Given the description of an element on the screen output the (x, y) to click on. 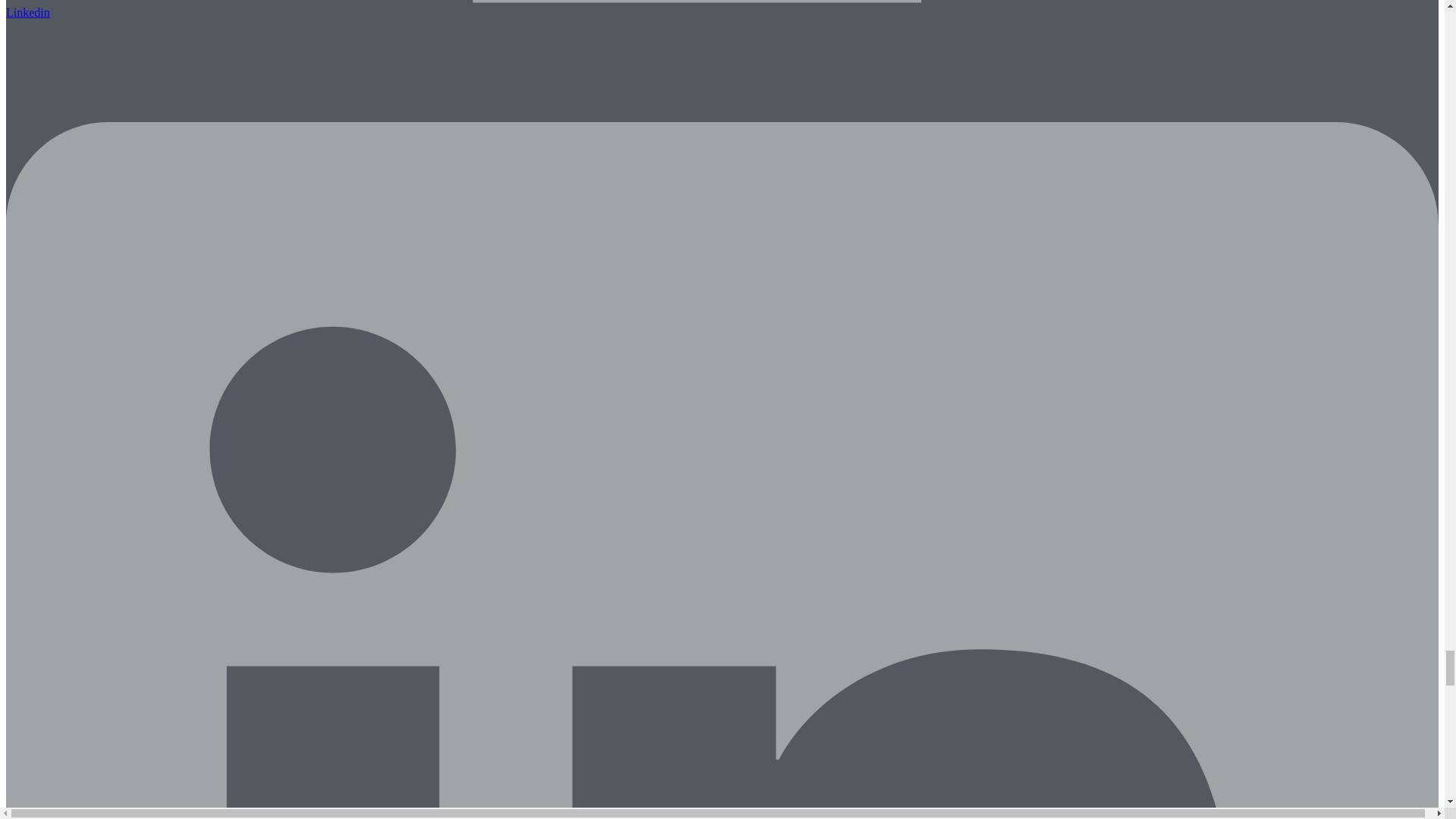
Facebook-f (721, 9)
